Given the description of an element on the screen output the (x, y) to click on. 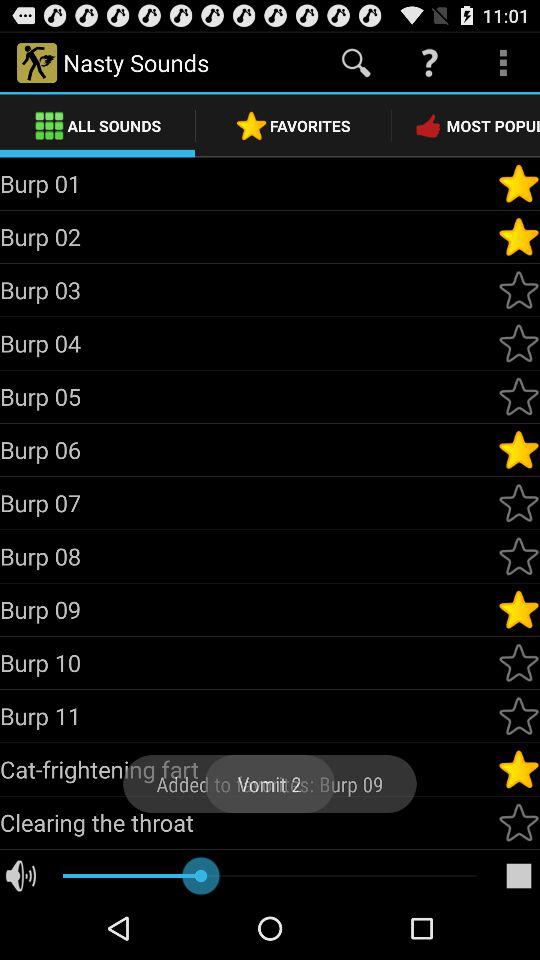
choose clearing the throat (248, 822)
